Given the description of an element on the screen output the (x, y) to click on. 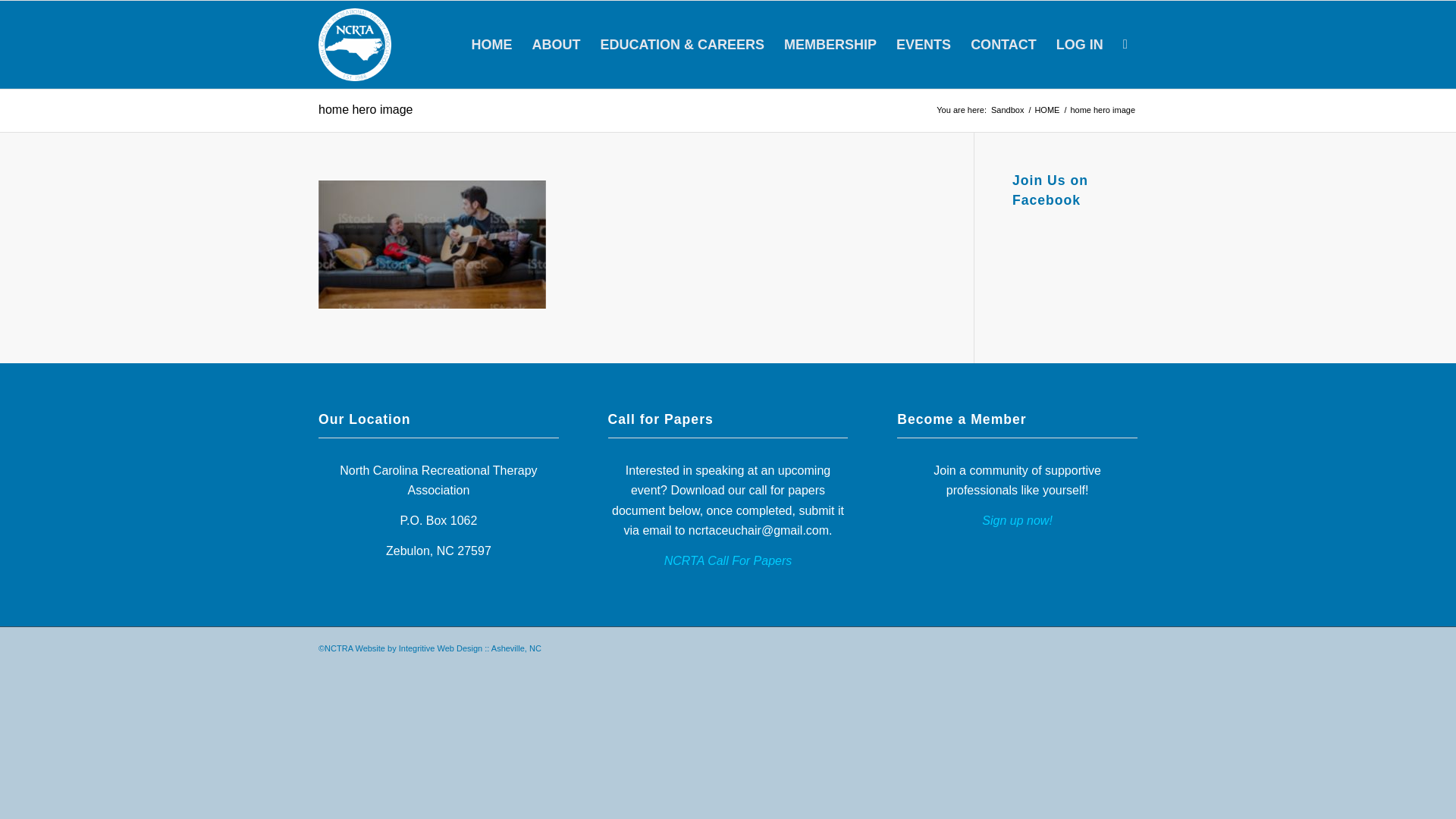
home hero image (365, 109)
Website by Integritive Web Design :: Asheville, NC (447, 647)
HOME (1046, 110)
CONTACT (1003, 44)
Sign up now! (1016, 520)
Permanent Link: home hero image (365, 109)
HOME (1046, 110)
MEMBERSHIP (830, 44)
Sandbox (1007, 110)
Sandbox (1007, 110)
